Given the description of an element on the screen output the (x, y) to click on. 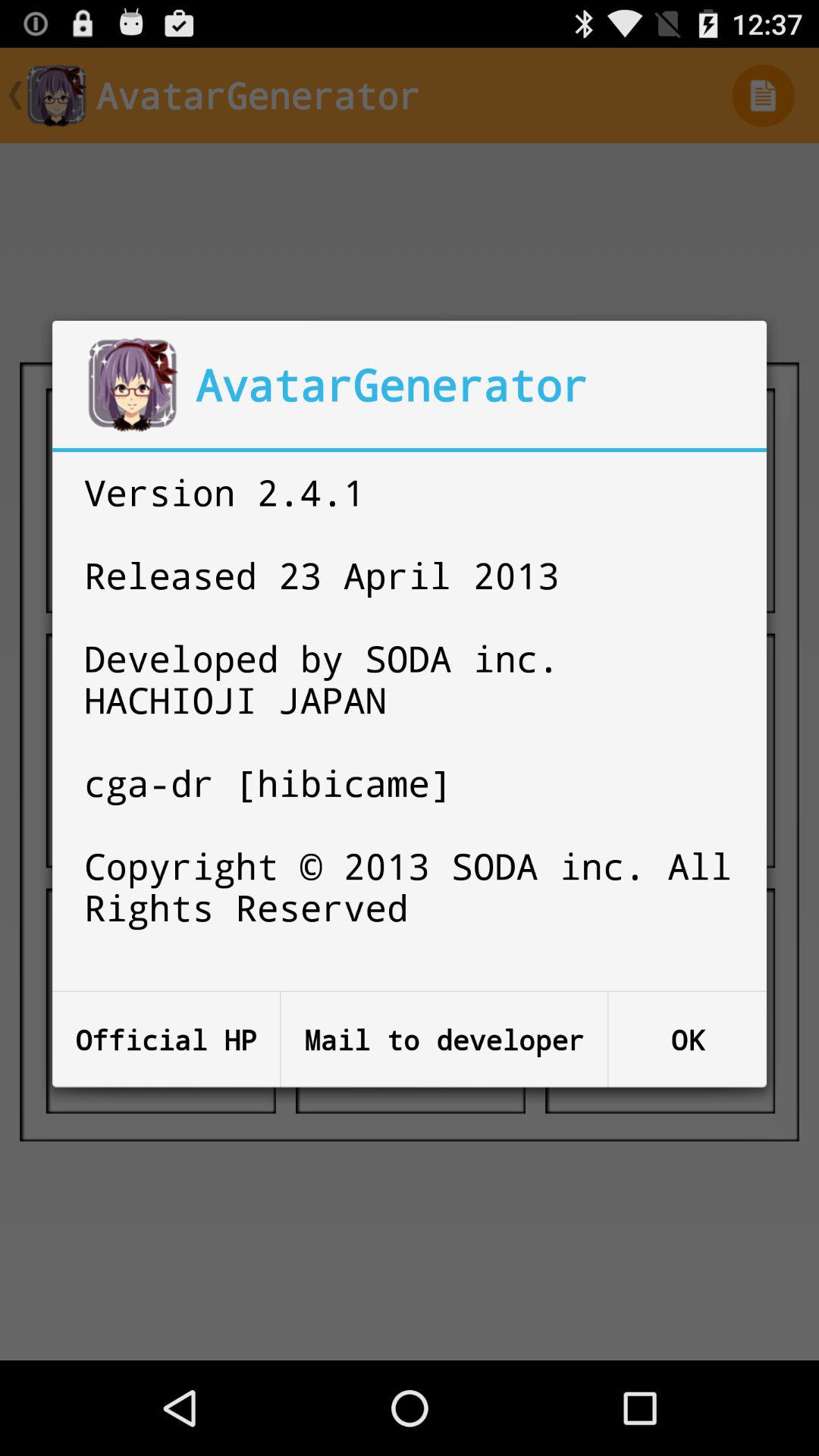
open icon at the bottom (443, 1039)
